Given the description of an element on the screen output the (x, y) to click on. 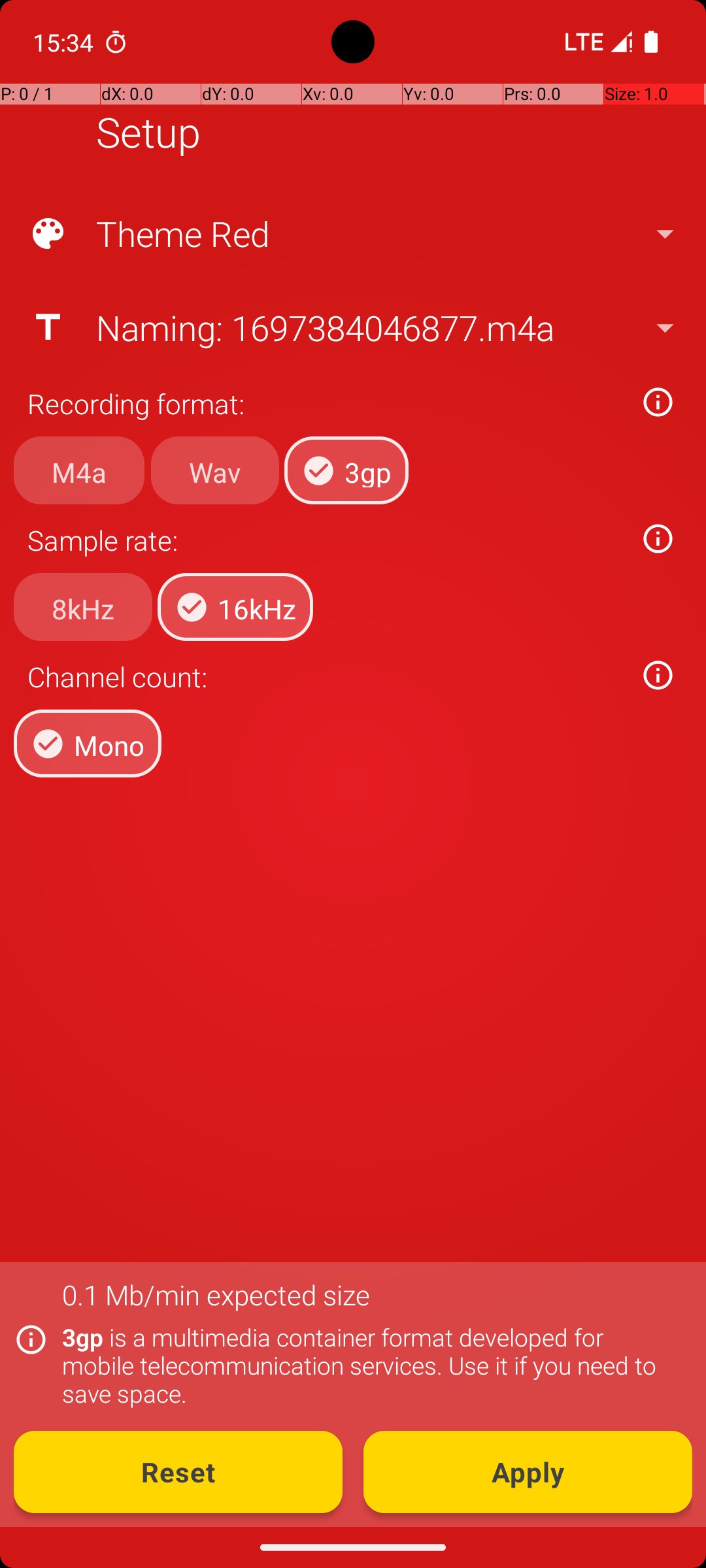
0.1 Mb/min expected size Element type: android.widget.TextView (215, 1294)
3gp is a multimedia container format developed for mobile telecommunication services. Use it if you need to save space. Element type: android.widget.TextView (370, 1364)
Theme Red Element type: android.widget.TextView (352, 233)
Naming: 1697384046877.m4a Element type: android.widget.TextView (352, 327)
Clock notification:  Element type: android.widget.ImageView (115, 41)
